Given the description of an element on the screen output the (x, y) to click on. 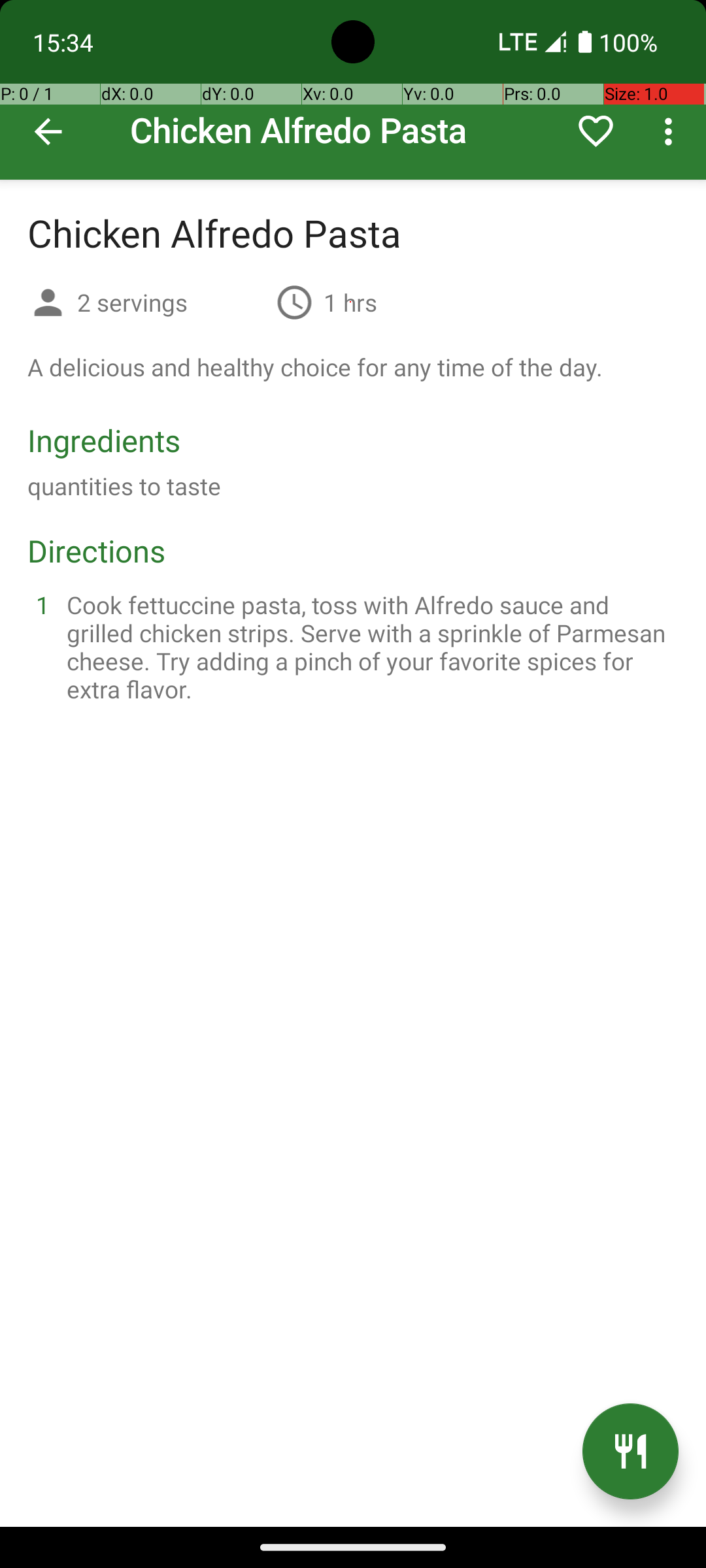
Cook fettuccine pasta, toss with Alfredo sauce and grilled chicken strips. Serve with a sprinkle of Parmesan cheese. Try adding a pinch of your favorite spices for extra flavor. Element type: android.widget.TextView (368, 646)
